Given the description of an element on the screen output the (x, y) to click on. 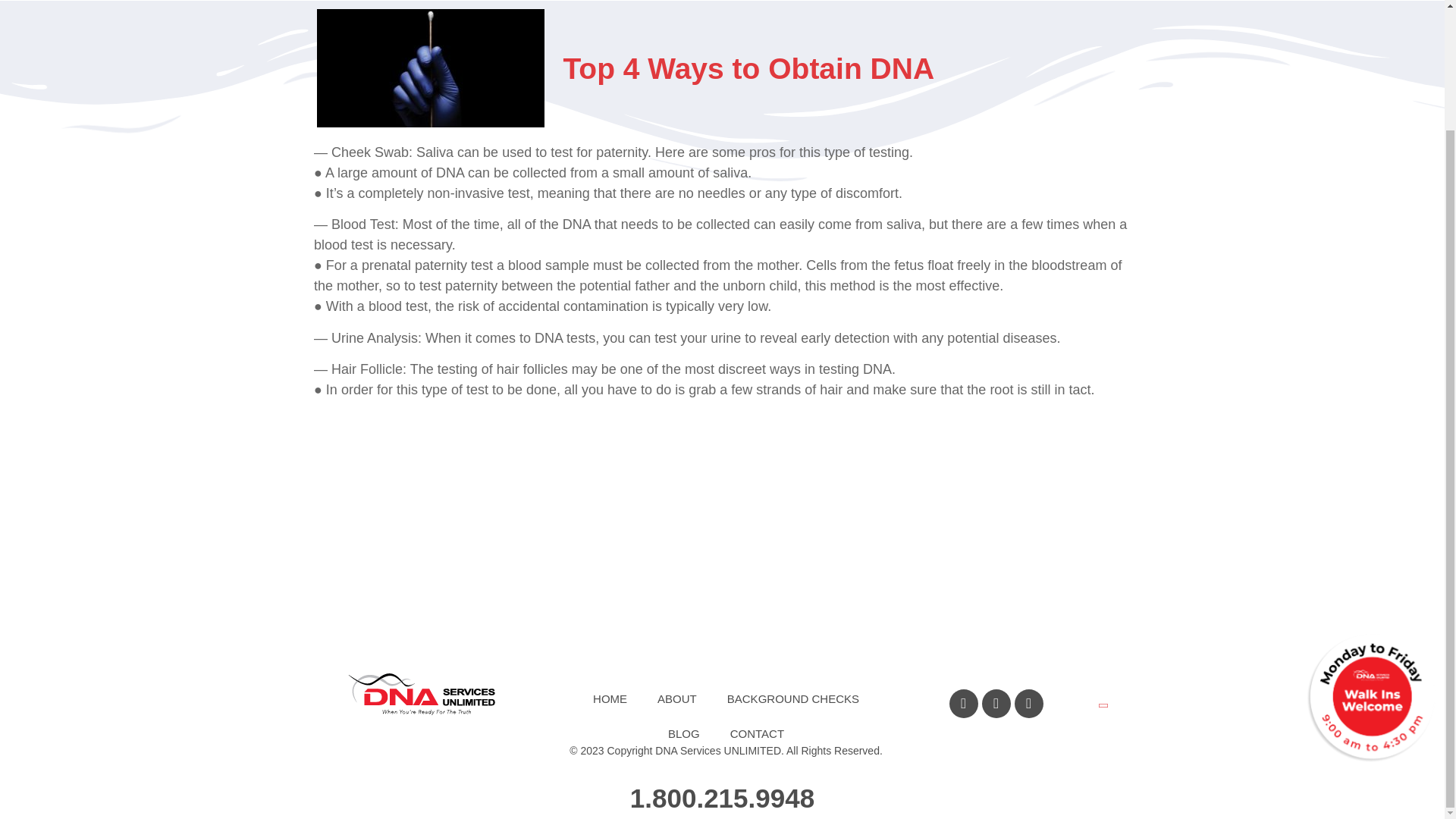
BACKGROUND CHECKS (793, 698)
CONTACT (756, 733)
HOME (610, 698)
BLOG (683, 733)
ABOUT (676, 698)
